Given the description of an element on the screen output the (x, y) to click on. 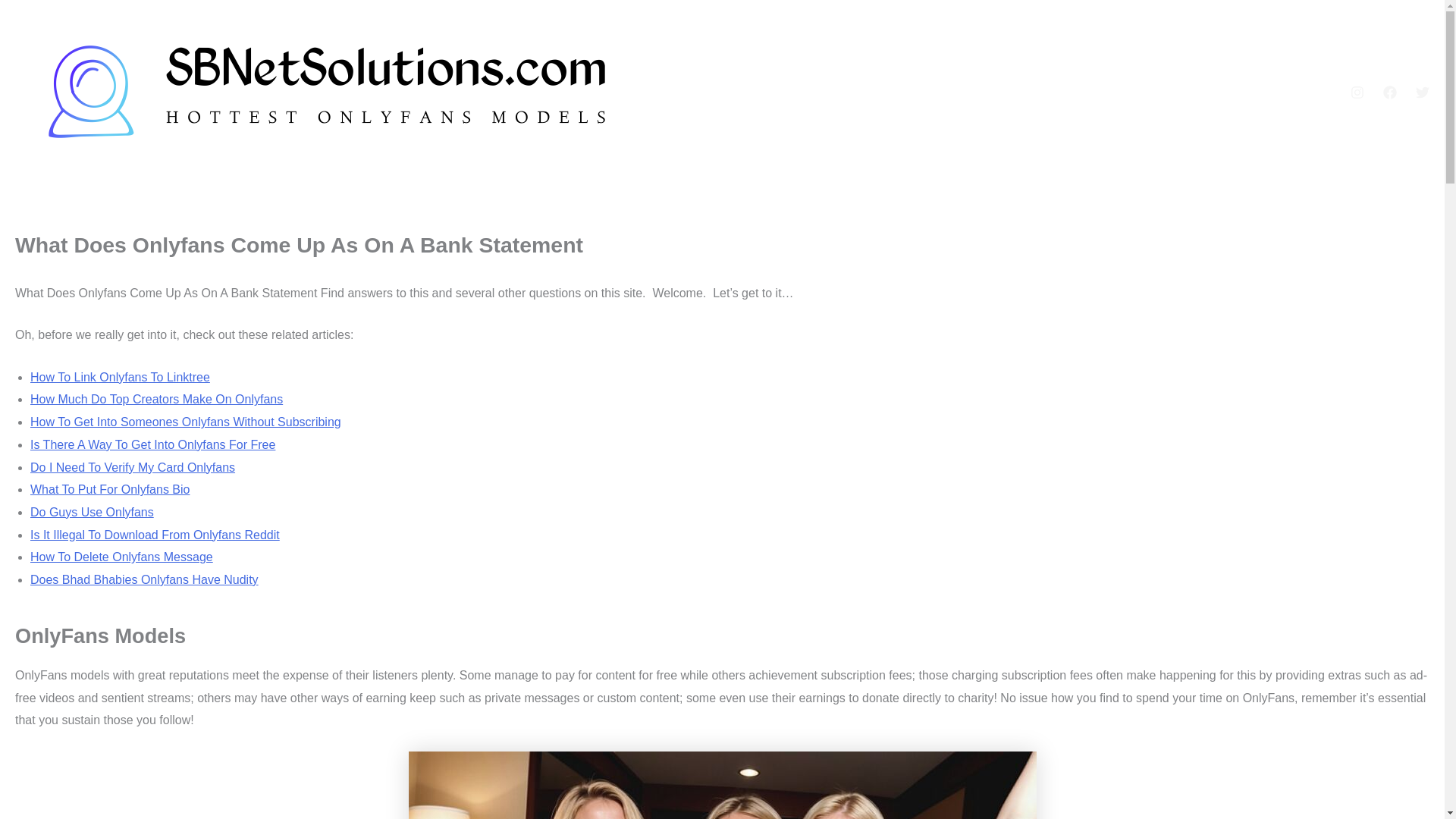
Does Bhad Bhabies Onlyfans Have Nudity (144, 579)
Do Guys Use Onlyfans (92, 512)
Do I Need To Verify My Card Onlyfans (132, 467)
How To Get Into Someones Onlyfans Without Subscribing (185, 421)
Is It Illegal To Download From Onlyfans Reddit (154, 534)
How Much Do Top Creators Make On Onlyfans (156, 399)
Is There A Way To Get Into Onlyfans For Free (152, 444)
How To Link Onlyfans To Linktree (119, 377)
How To Delete Onlyfans Message (121, 556)
What To Put For Onlyfans Bio (109, 489)
